Given the description of an element on the screen output the (x, y) to click on. 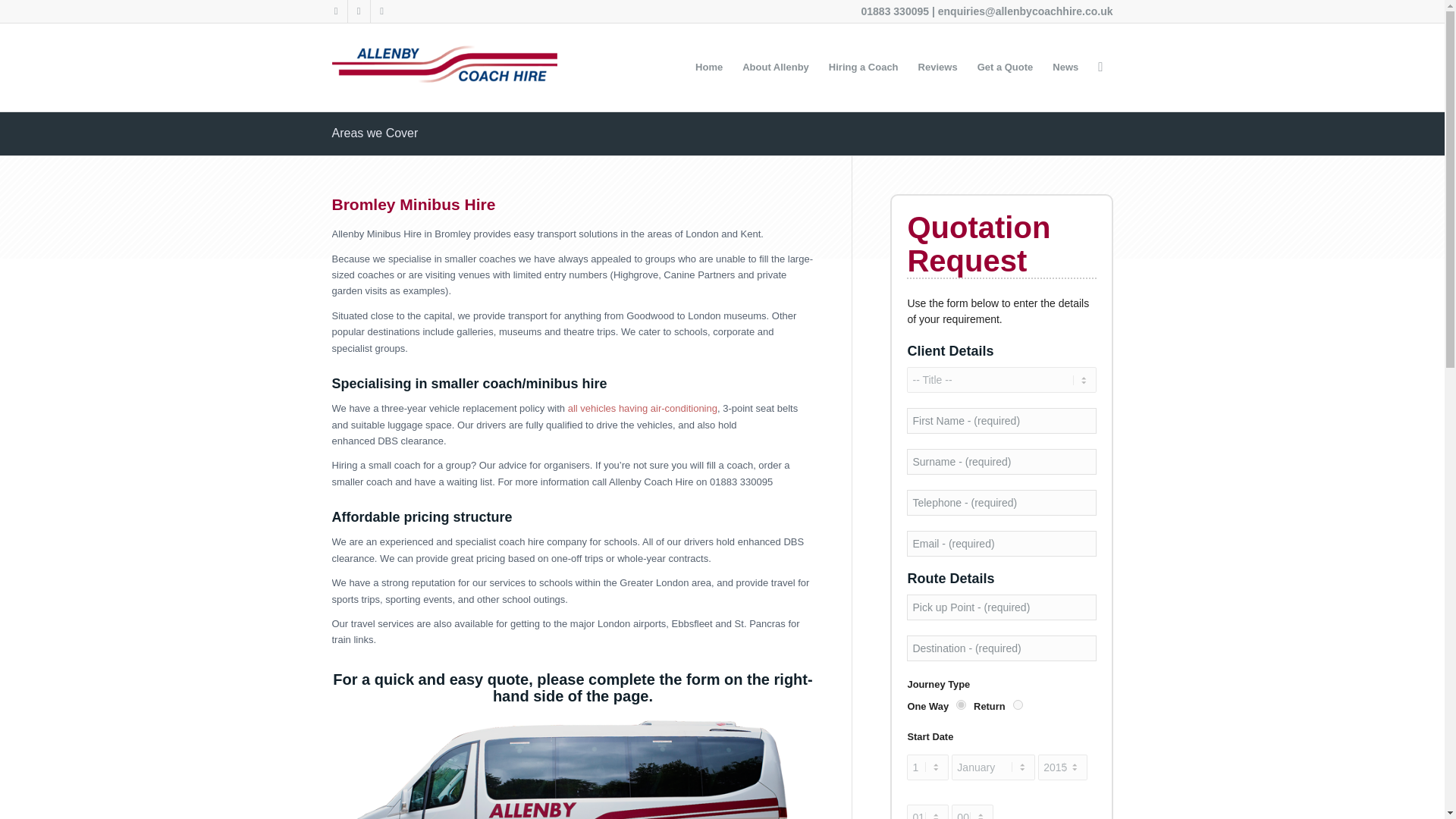
Permanent Link: Areas we Cover (375, 132)
About Allenby (775, 67)
all vehicles having air-conditioning (642, 408)
Yes (961, 705)
Permanent Link: Bromley Minibus Hire (413, 203)
Facebook (358, 11)
No (1018, 705)
Twitter (335, 11)
Areas we Cover (375, 132)
Bromley Minibus Hire (413, 203)
01883 330095 (895, 10)
Gplus (381, 11)
Hiring a Coach (863, 67)
